Given the description of an element on the screen output the (x, y) to click on. 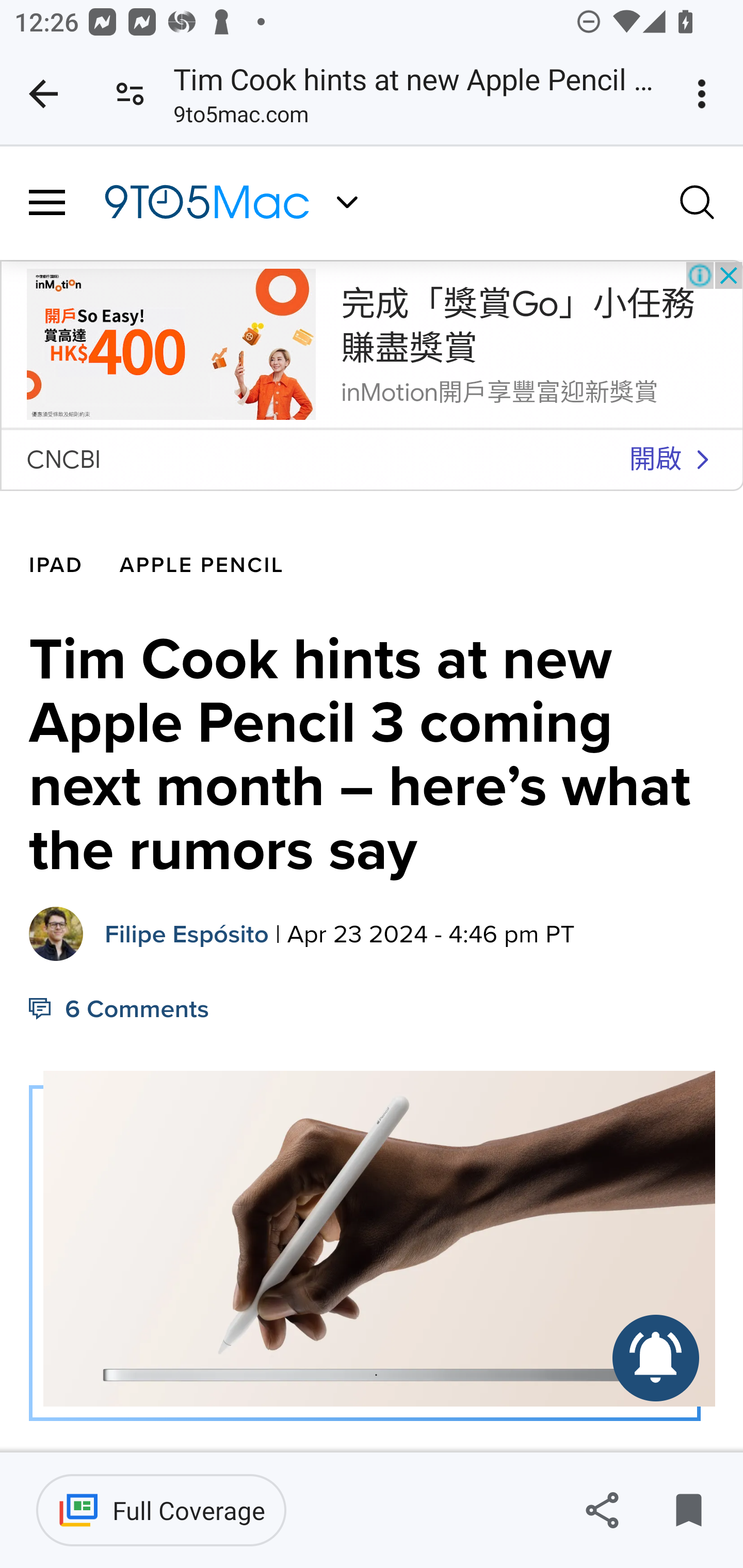
Close tab (43, 93)
Customize and control Google Chrome (705, 93)
Connection is secure (129, 93)
9to5mac.com (240, 117)
Toggle main menu (46, 203)
Toggle search form (697, 201)
Switch site (346, 202)
index (171, 343)
完成「獎賞Go」小任務 賺盡獎賞 完成「獎賞Go」小任務 賺盡獎賞 (517, 326)
inMotion開戶享豐富迎新獎賞 (499, 390)
CNCBI (63, 459)
開啟 (655, 460)
index (702, 459)
IPAD (56, 565)
APPLE PENCIL (201, 565)
Avatar for Filipe Espósito (56, 933)
Filipe Espósito (186, 933)
6 Comments (119, 1008)
Full Coverage (161, 1509)
Share (601, 1510)
Remove from saved stories (688, 1510)
